Given the description of an element on the screen output the (x, y) to click on. 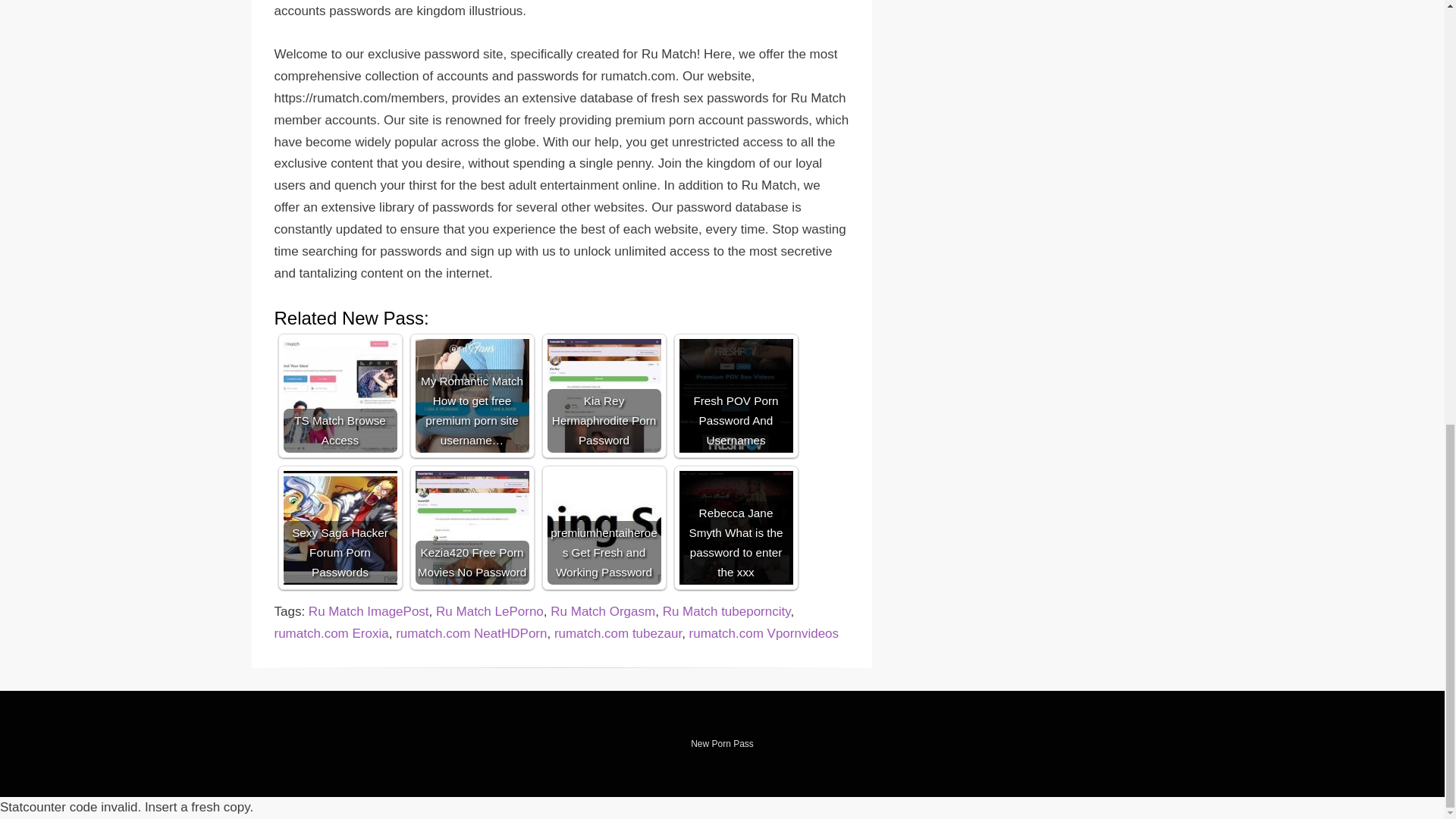
rumatch.com Vpornvideos (763, 633)
rumatch.com tubezaur (617, 633)
premiumhentaiheroes Get Fresh and Working Password (604, 527)
Ru Match ImagePost (368, 611)
Sexy Saga Hacker Forum Porn Passwords (340, 527)
Ru Match tubeporncity (726, 611)
Kia Rey Hermaphrodite Porn Password (604, 395)
rumatch.com NeatHDPorn (471, 633)
Sexy Saga Hacker Forum Porn Passwords (340, 527)
Fresh POV Porn Password And Usernames (736, 395)
Ru Match LePorno (489, 611)
Kezia420 Free Porn Movies No Password (471, 527)
Rebecca Jane Smyth What is the password to enter the xxx (736, 527)
TS Match Browse Access (340, 395)
